Given the description of an element on the screen output the (x, y) to click on. 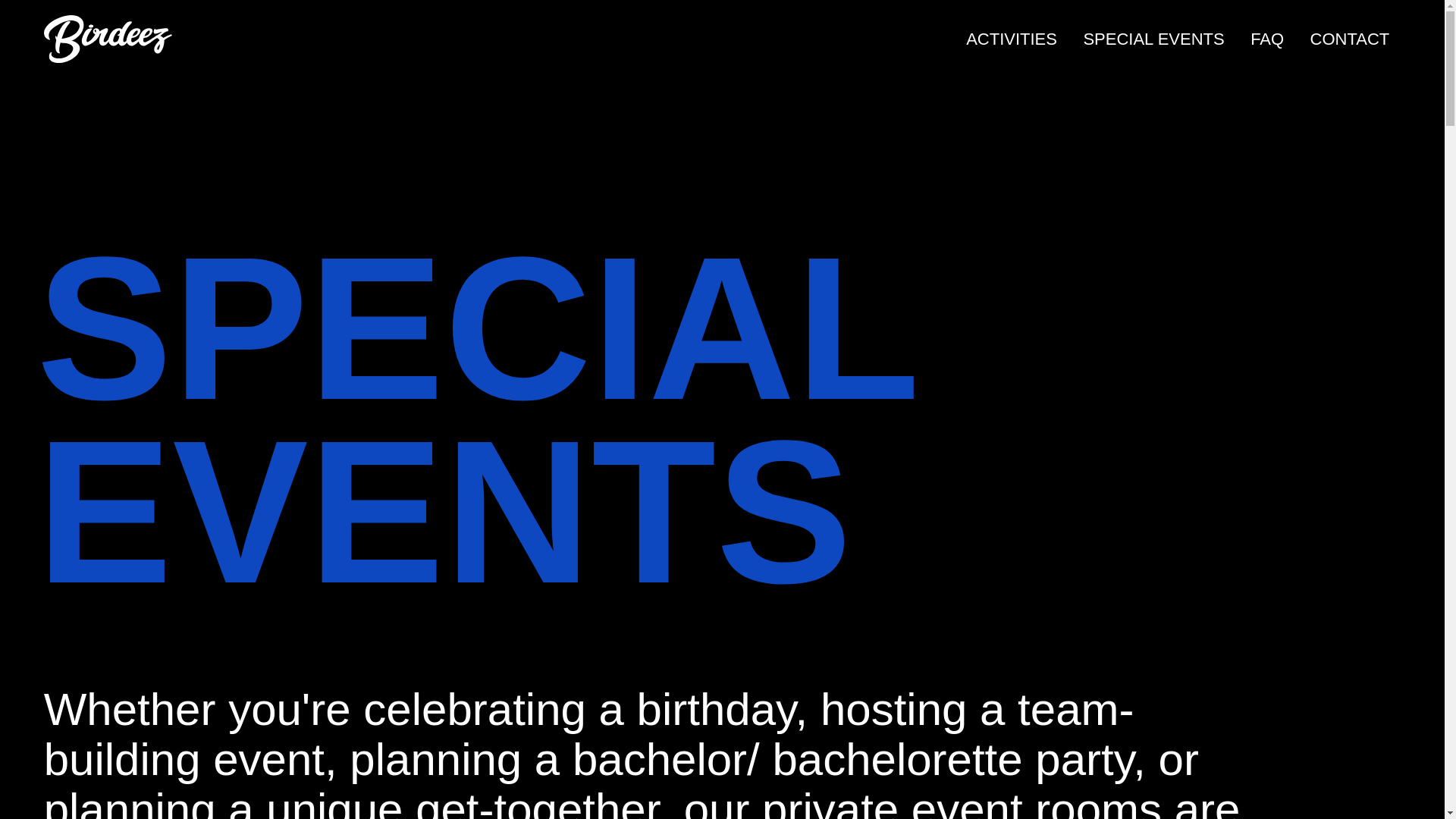
ACTIVITIES (1011, 38)
FAQ (1267, 38)
SPECIAL EVENTS (1153, 38)
CONTACT (1350, 38)
